Given the description of an element on the screen output the (x, y) to click on. 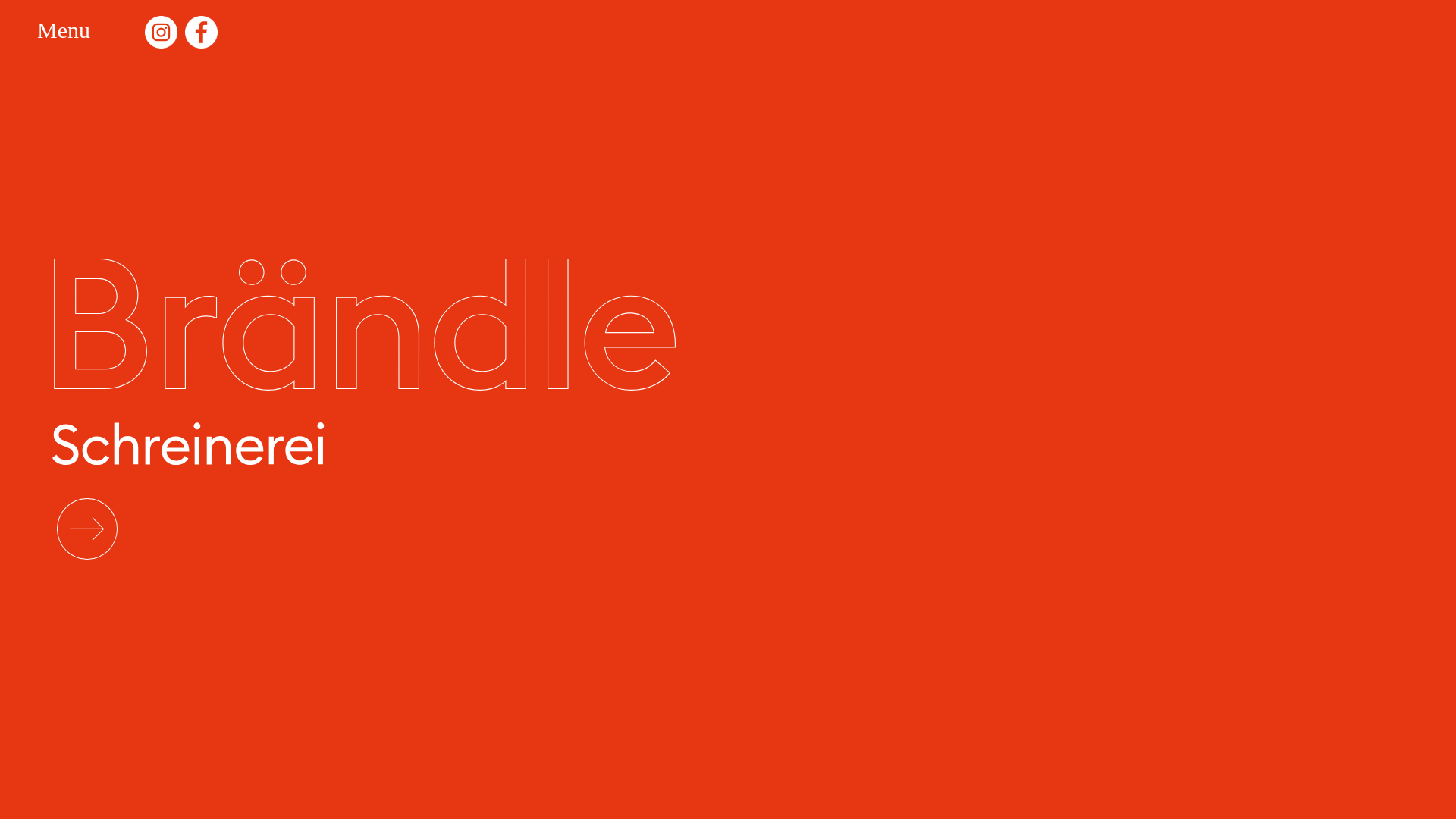
Menu Element type: text (73, 35)
